Given the description of an element on the screen output the (x, y) to click on. 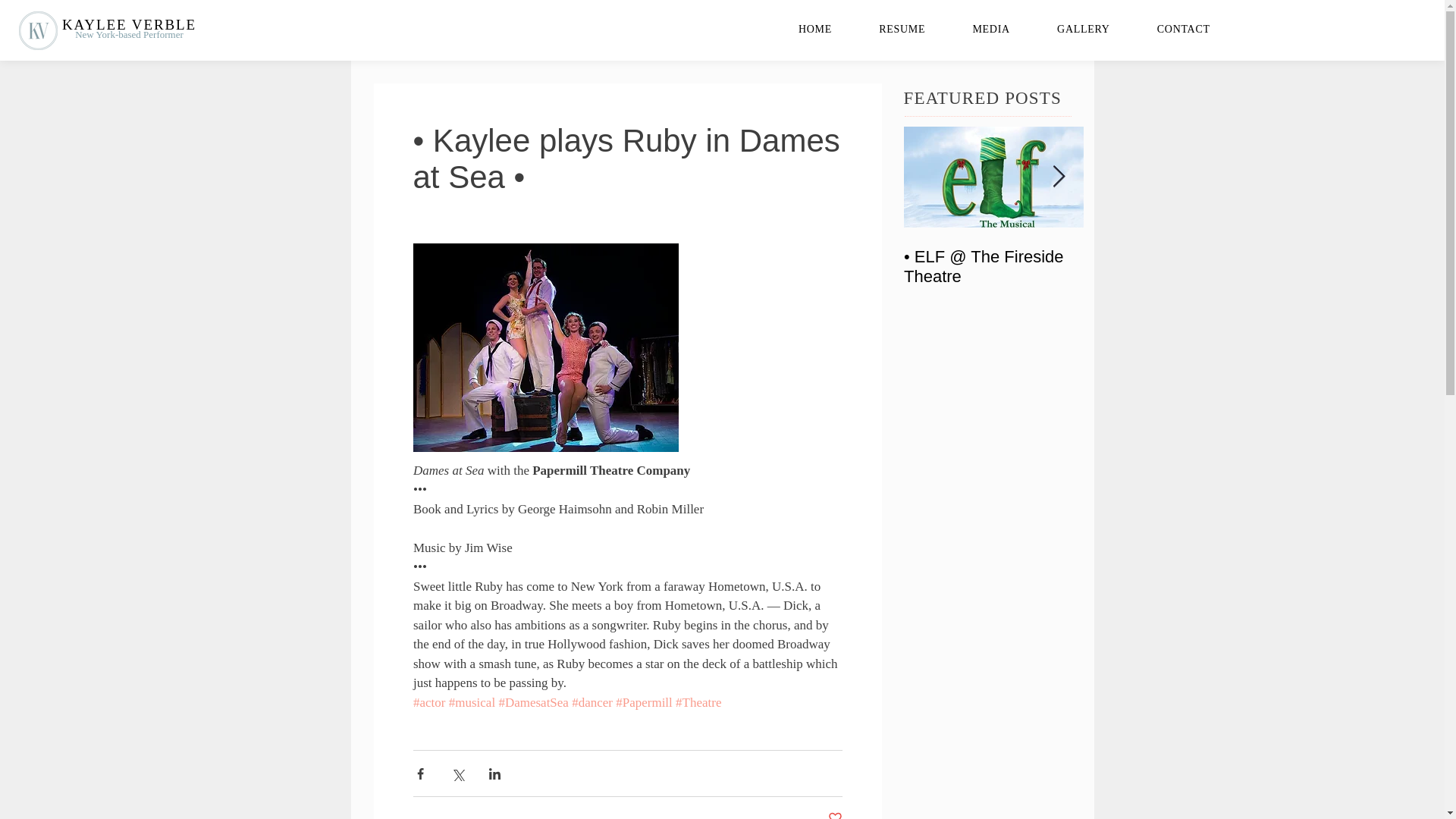
RESUME (901, 29)
KAYLEE VERBLE (129, 24)
CONTACT (1183, 29)
GALLERY (1083, 29)
New York-based Performer (129, 34)
MEDIA (991, 29)
Post not marked as liked (835, 814)
HOME (814, 29)
